Given the description of an element on the screen output the (x, y) to click on. 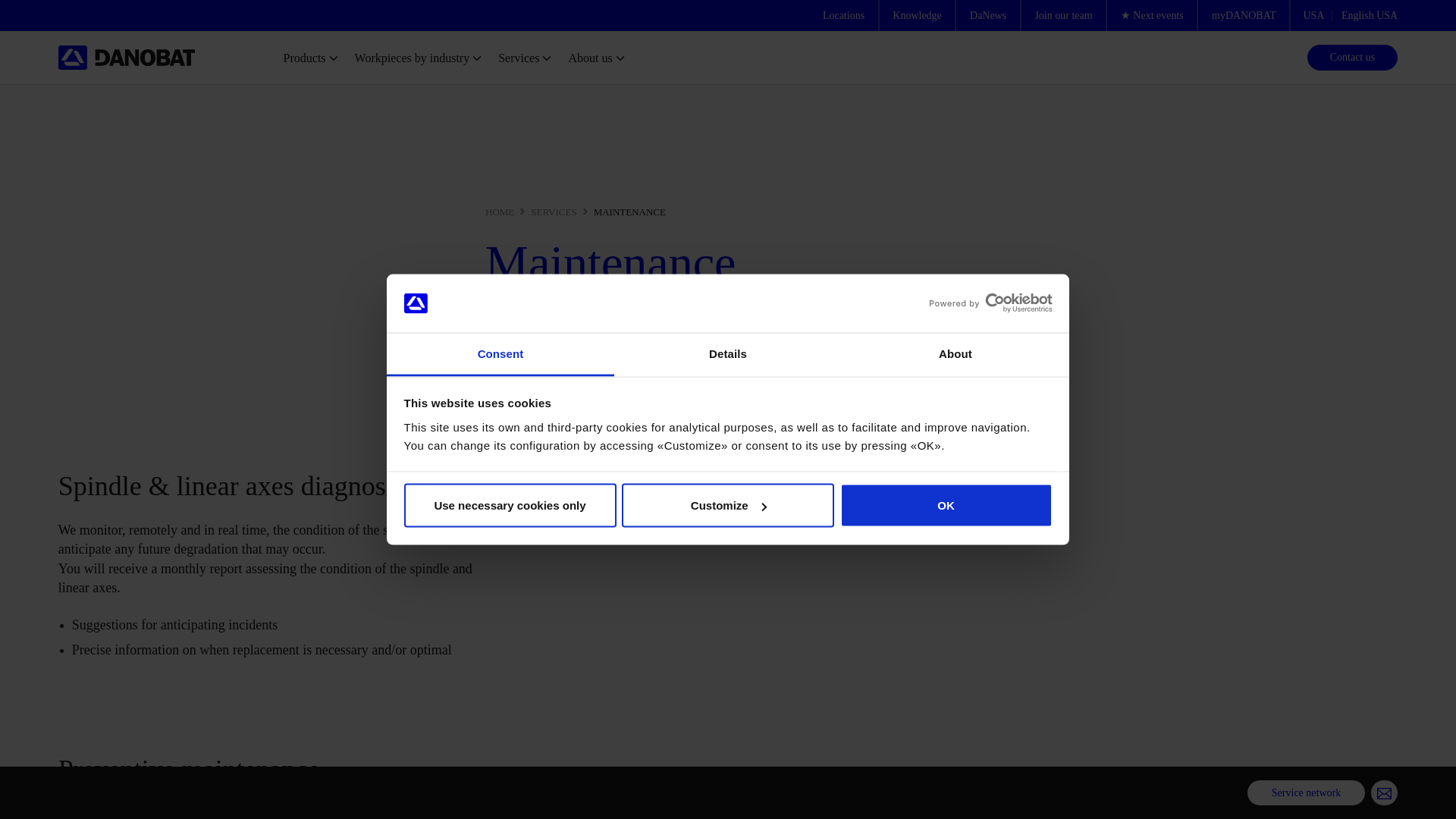
About (954, 353)
Consent (500, 353)
Home (126, 57)
Details (727, 353)
